Given the description of an element on the screen output the (x, y) to click on. 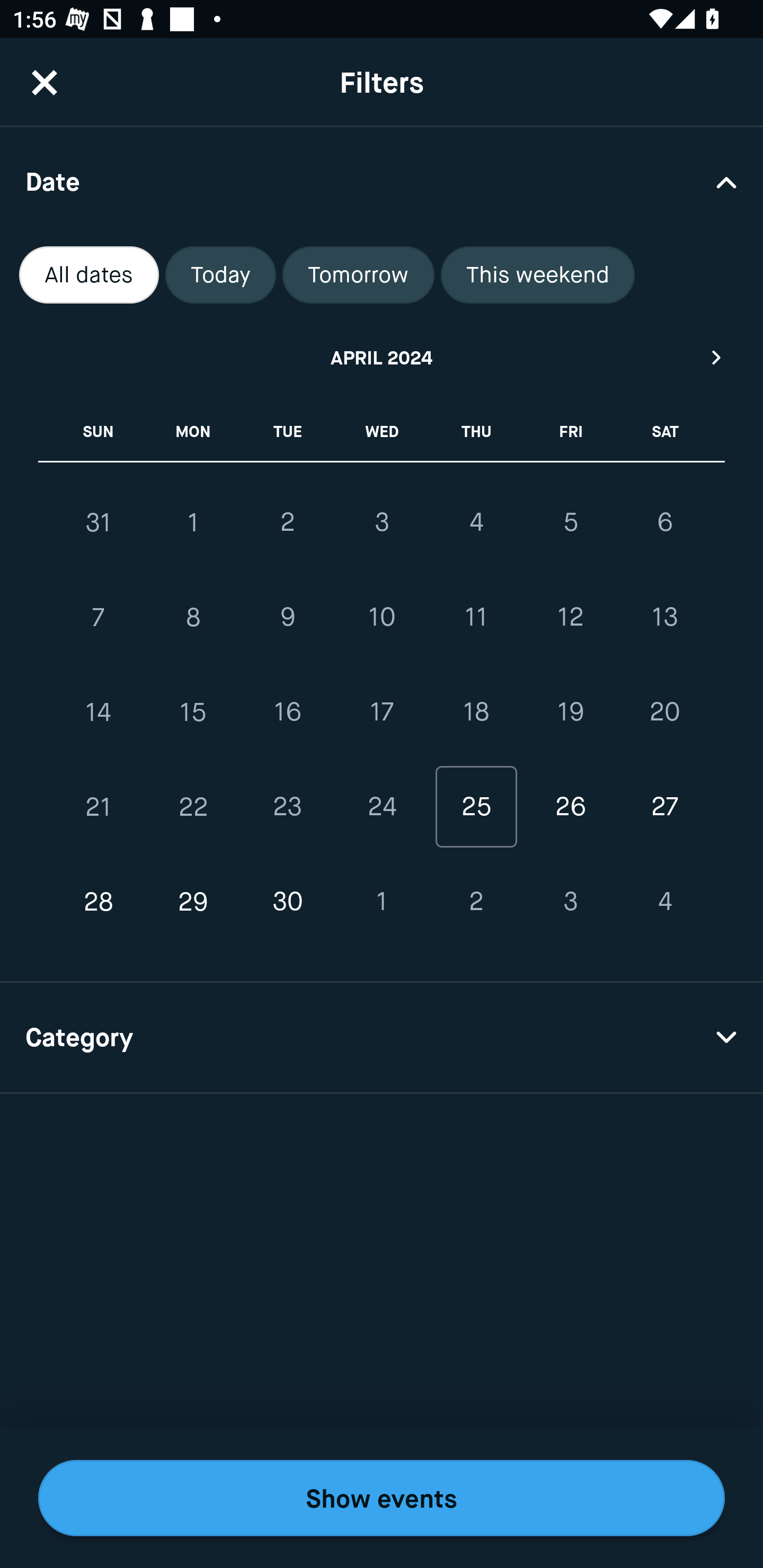
CloseButton (44, 82)
Date Drop Down Arrow (381, 181)
All dates (88, 274)
Today (220, 274)
Tomorrow (358, 274)
This weekend (537, 274)
Next (717, 357)
31 (98, 522)
1 (192, 522)
2 (287, 522)
3 (381, 522)
4 (475, 522)
5 (570, 522)
6 (664, 522)
7 (98, 617)
8 (192, 617)
9 (287, 617)
10 (381, 617)
11 (475, 617)
12 (570, 617)
13 (664, 617)
14 (98, 711)
15 (192, 711)
16 (287, 711)
17 (381, 711)
18 (475, 711)
19 (570, 711)
20 (664, 711)
21 (98, 806)
22 (192, 806)
23 (287, 806)
24 (381, 806)
25 (475, 806)
26 (570, 806)
27 (664, 806)
28 (98, 901)
29 (192, 901)
30 (287, 901)
1 (381, 901)
2 (475, 901)
3 (570, 901)
4 (664, 901)
Category Drop Down Arrow (381, 1038)
Show events (381, 1497)
